Given the description of an element on the screen output the (x, y) to click on. 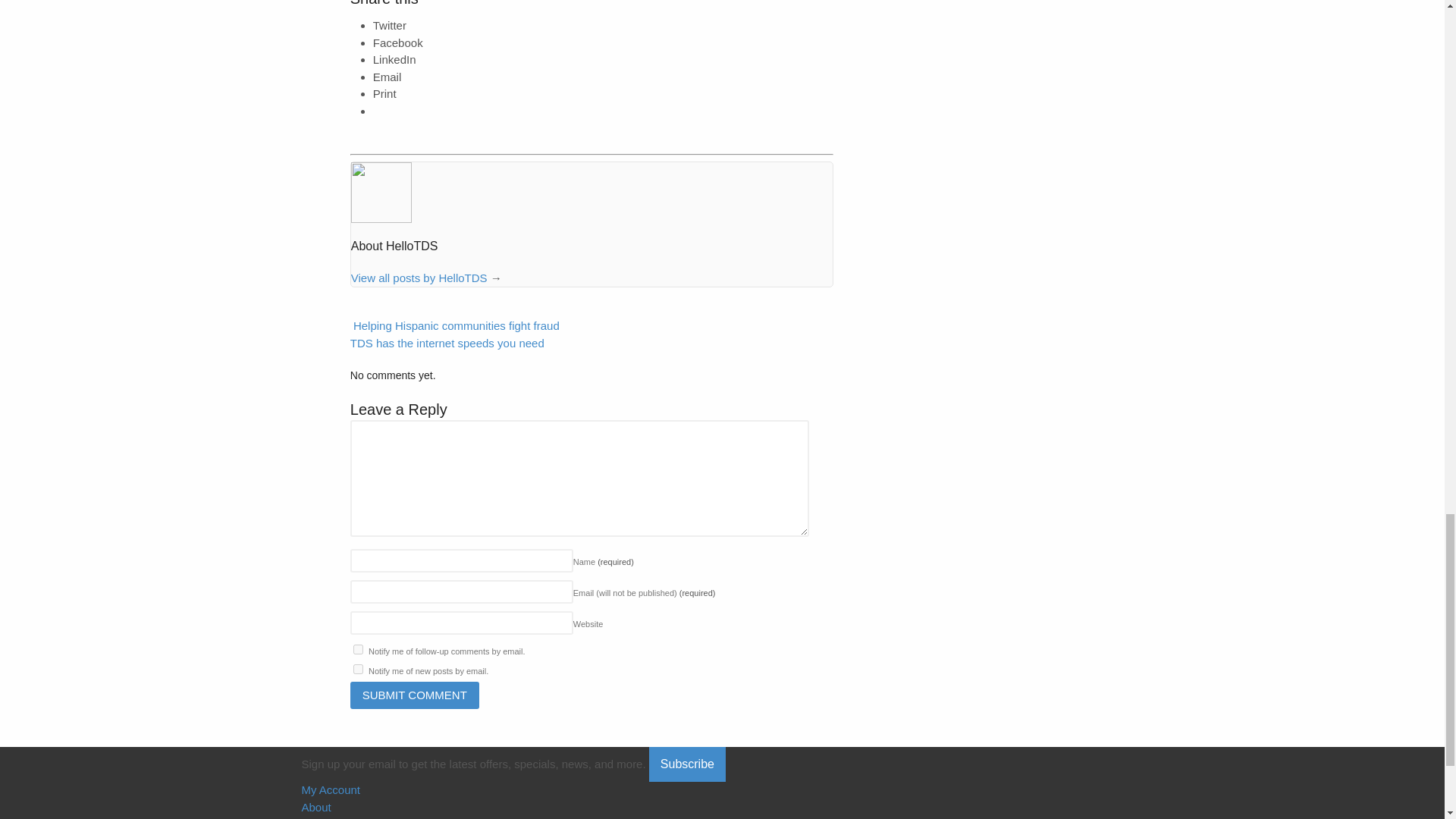
Email (386, 76)
subscribe (357, 649)
Click to share on Twitter (389, 24)
LinkedIn (394, 59)
Click to share on LinkedIn (394, 59)
subscribe (357, 669)
Click to print (384, 92)
Click to email a link to a friend (386, 76)
Facebook (397, 42)
Twitter (389, 24)
